Given the description of an element on the screen output the (x, y) to click on. 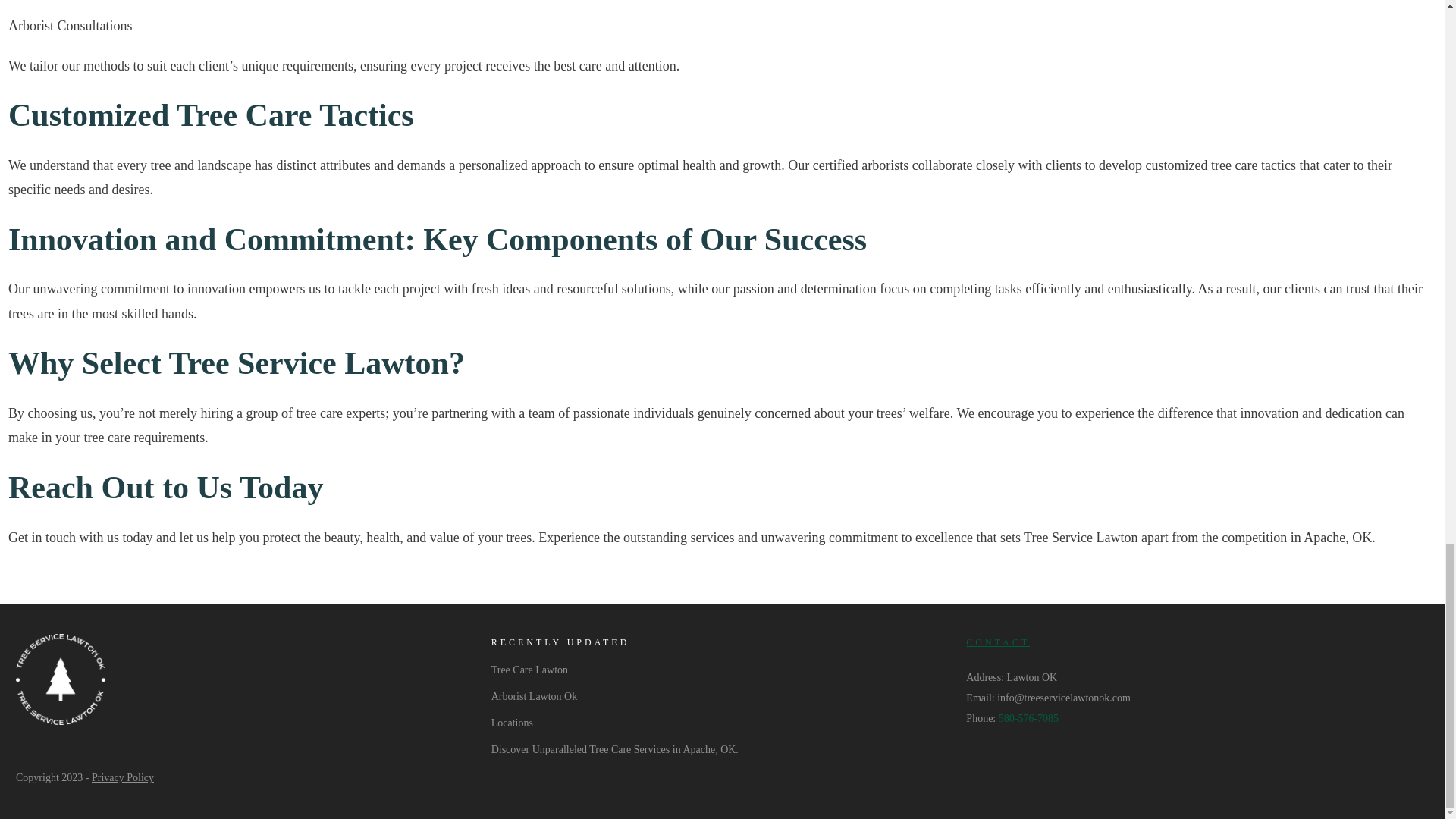
CONTACT (997, 642)
Privacy Policy (122, 777)
Tree Care Lawton (529, 669)
Discover Unparalleled Tree Care Services in Apache, OK. (615, 749)
Arborist Lawton Ok (535, 696)
Locations (512, 722)
580-576-7085 (1028, 717)
